Given the description of an element on the screen output the (x, y) to click on. 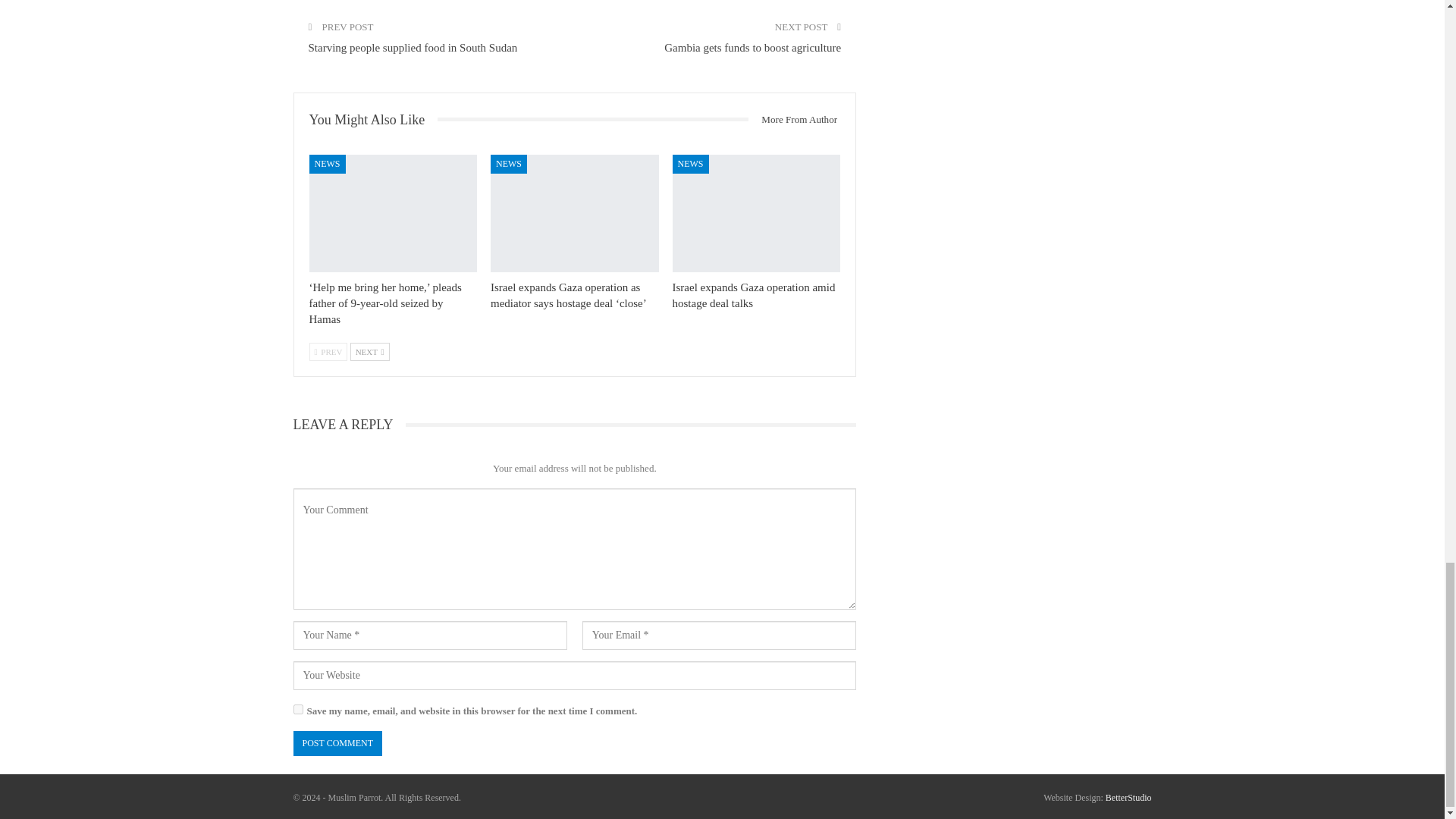
Israel expands Gaza operation amid hostage deal talks (756, 212)
yes (297, 709)
Post Comment (336, 743)
